Given the description of an element on the screen output the (x, y) to click on. 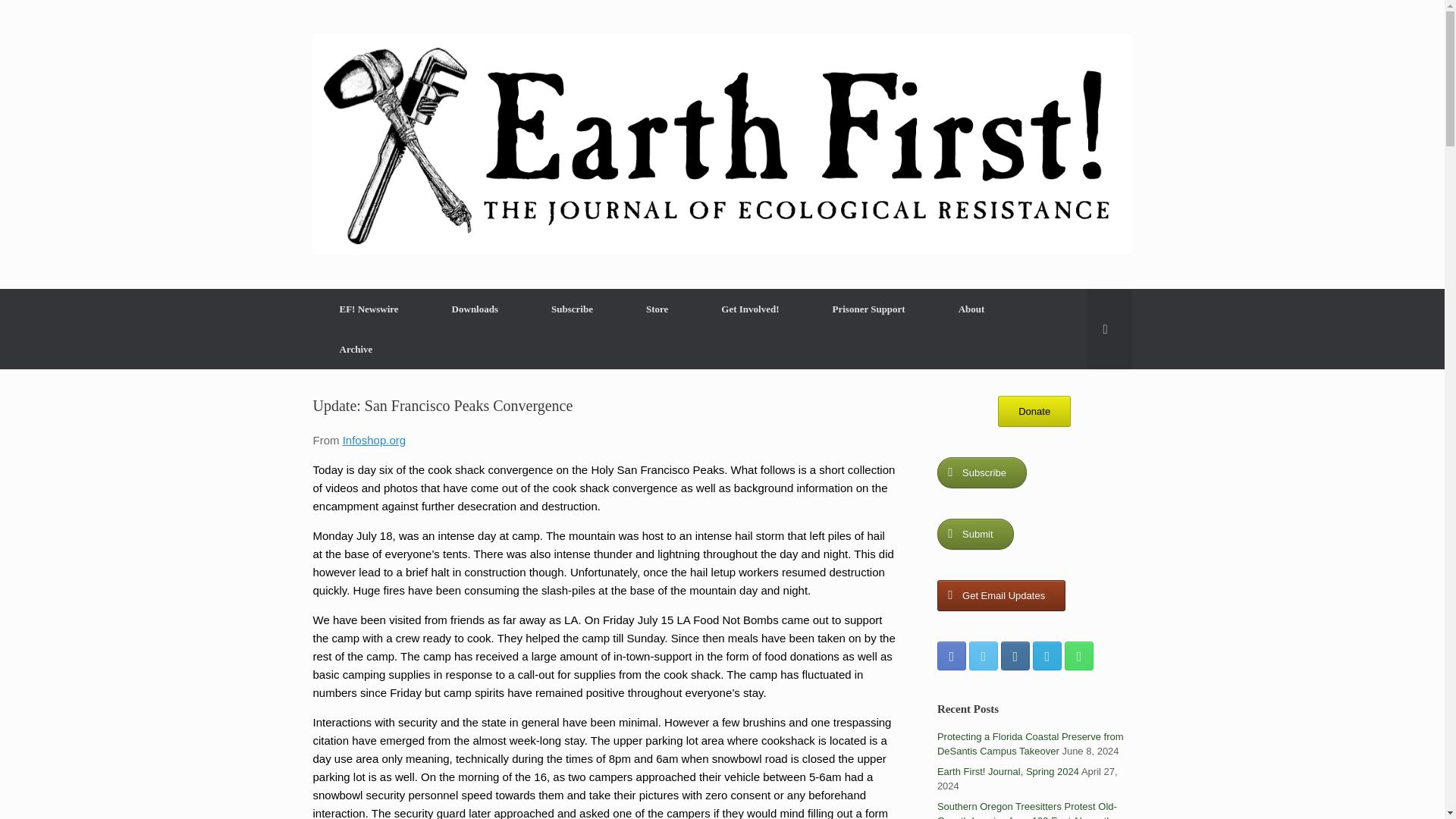
Earth First! Journal Email (1046, 655)
Subscribe (981, 472)
Get Email Updates (1001, 594)
Earth First! Journal Facebook (951, 655)
EF! Newswire (369, 309)
Infoshop.org (374, 440)
Archive (355, 349)
Earth First! Journal, Spring 2024 (1007, 771)
Store (657, 309)
Earth First! Journal Twitter (983, 655)
Downloads (474, 309)
Earth First! Journal Instagram (1015, 655)
Submit (975, 533)
